Given the description of an element on the screen output the (x, y) to click on. 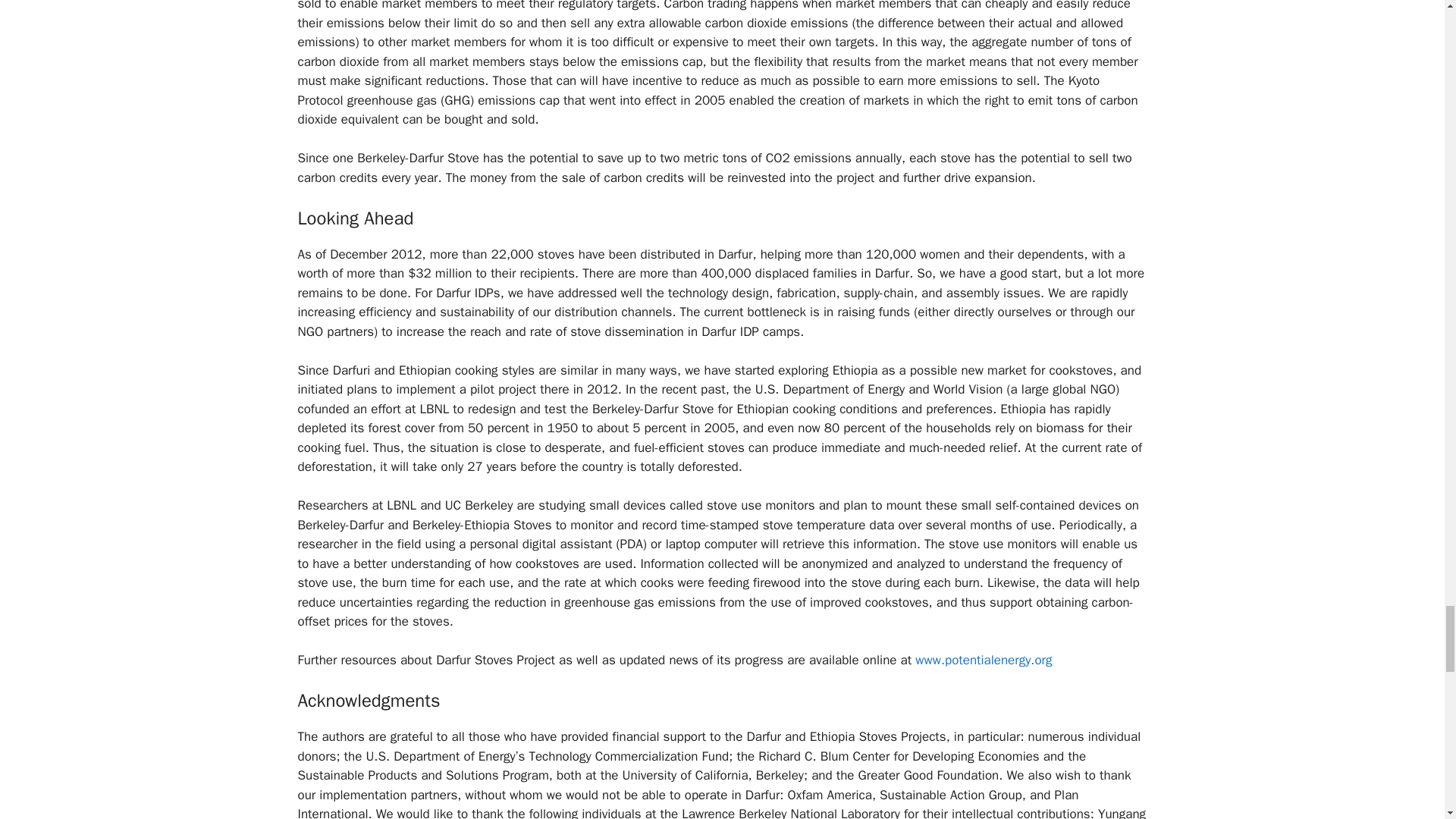
www.potentialenergy.org (983, 659)
